Given the description of an element on the screen output the (x, y) to click on. 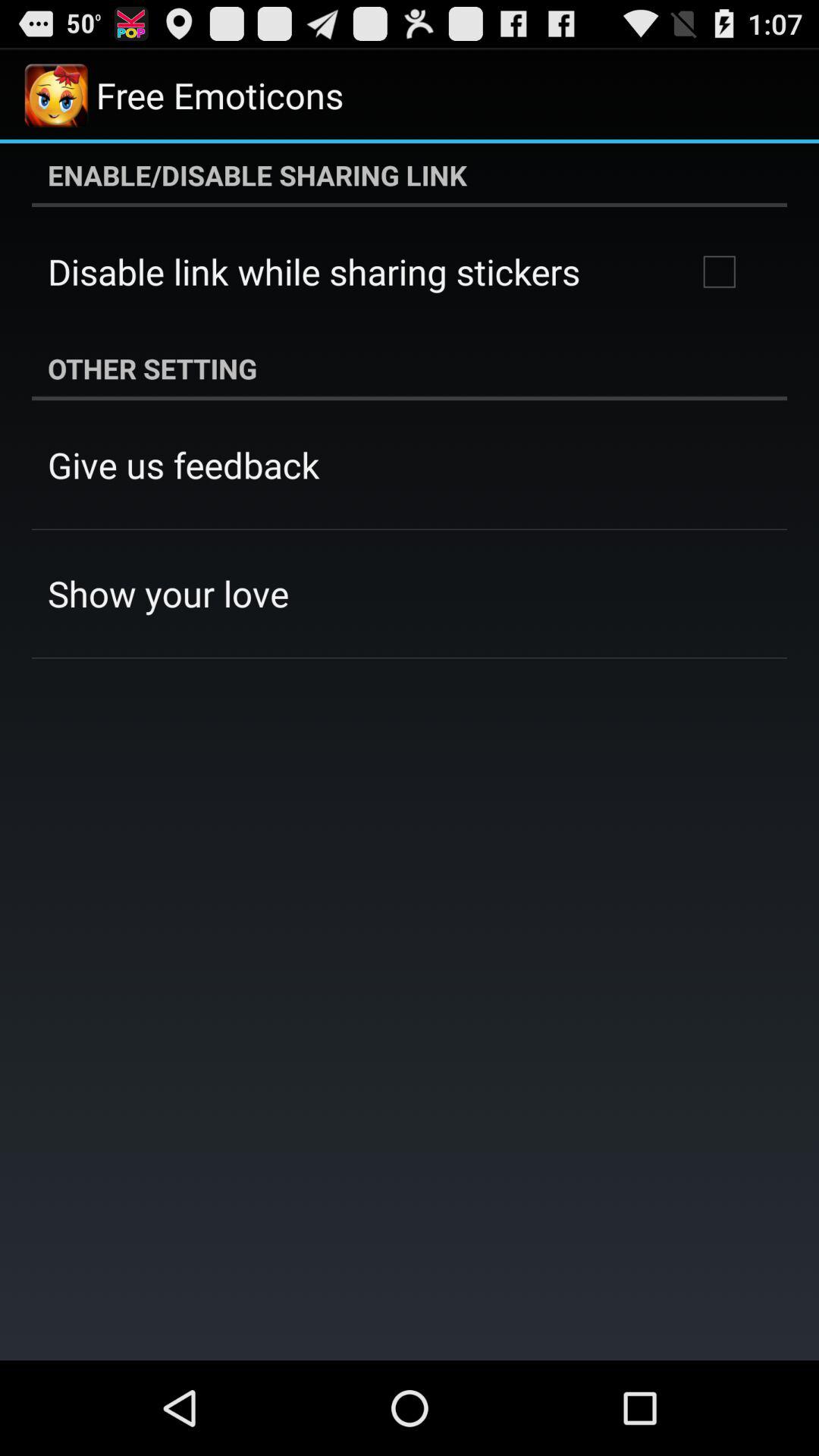
click item below enable disable sharing app (719, 271)
